Given the description of an element on the screen output the (x, y) to click on. 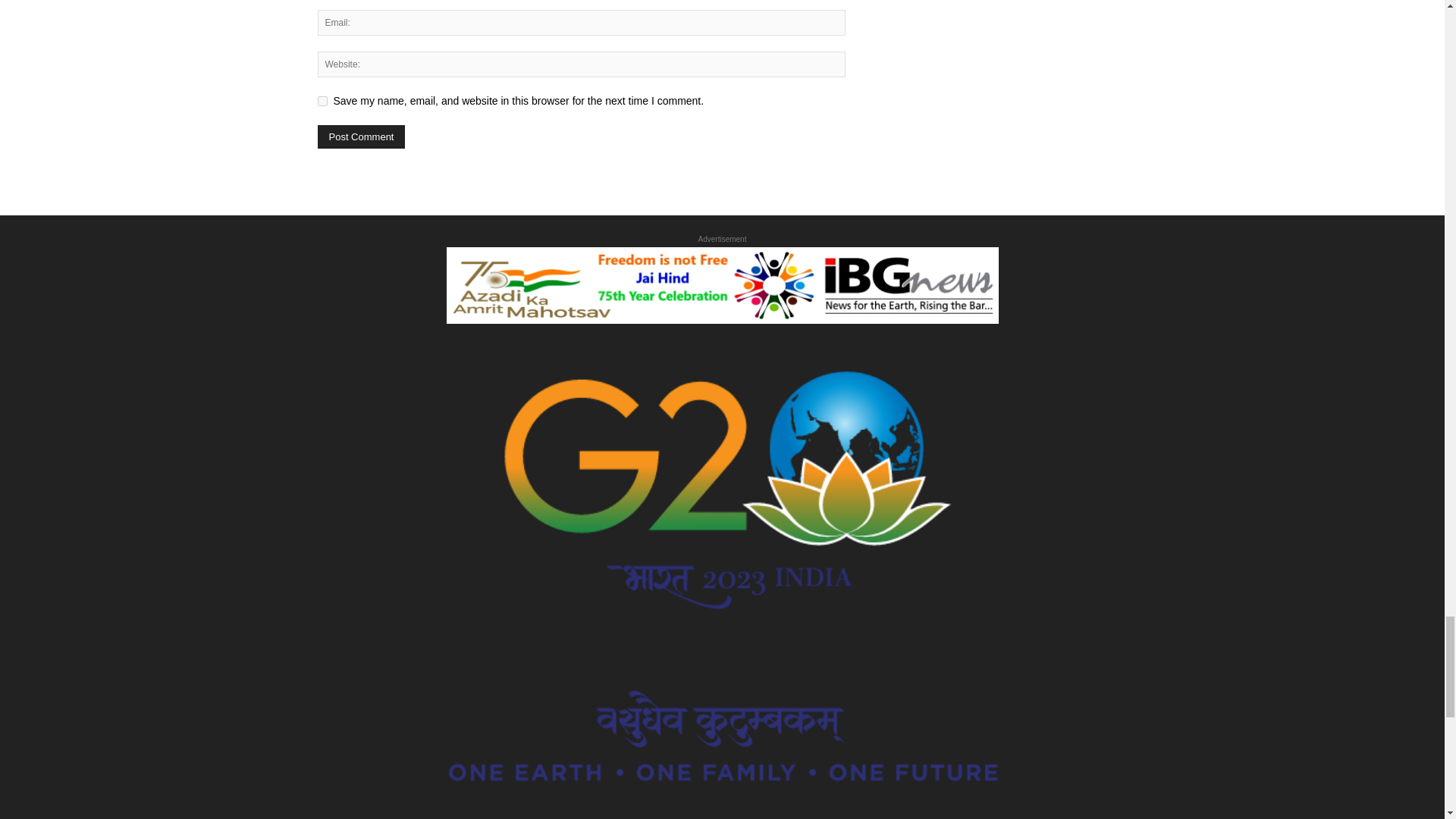
Post Comment (360, 136)
yes (321, 101)
